Given the description of an element on the screen output the (x, y) to click on. 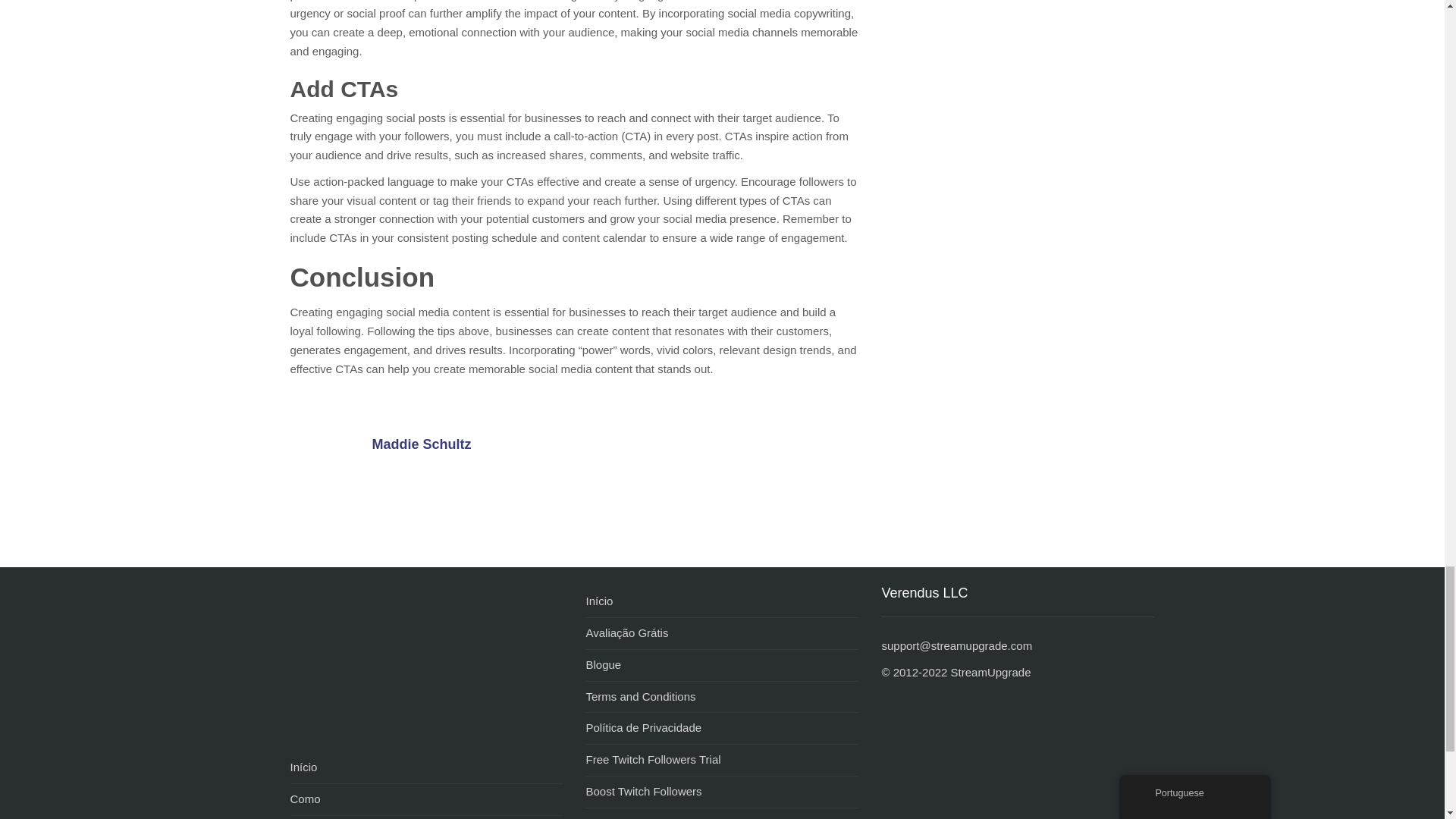
Maddie Schultz (420, 444)
Maddie Schultz (328, 457)
